Given the description of an element on the screen output the (x, y) to click on. 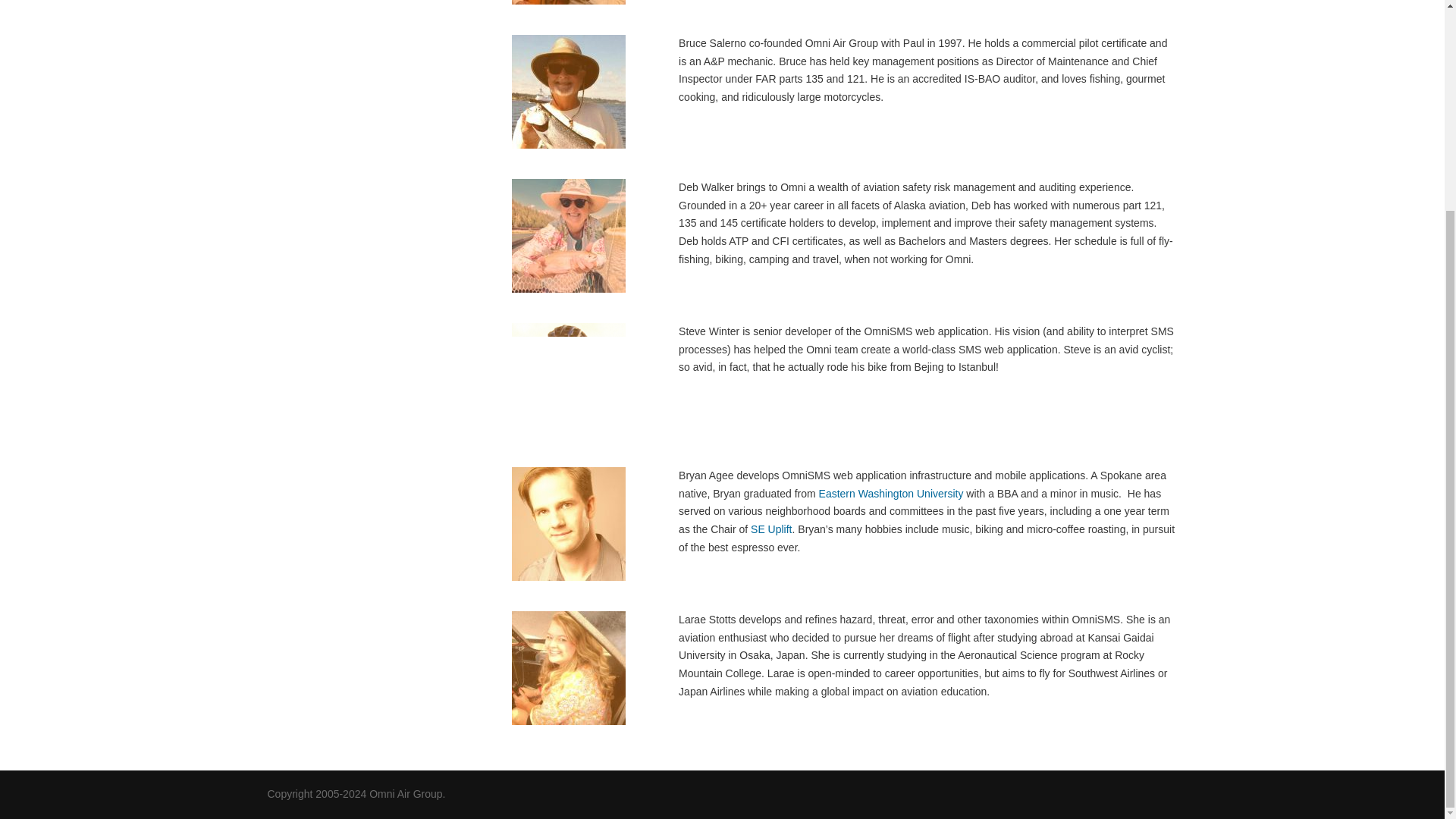
Desi-Paul-Tall-light-150x150 (569, 2)
SE Uplift (771, 529)
Steve-winter-larger-light-150x150 (569, 379)
Deb-Bio-Image-warming-filter-150x150 (569, 235)
Bryan-Agee-3-light-150x150 (569, 523)
 Eastern Washington University (889, 493)
LaRae-Stotts-crop2-light-150x150 (569, 667)
Bruce-2016-cropped-light-150x150 (569, 91)
